Given the description of an element on the screen output the (x, y) to click on. 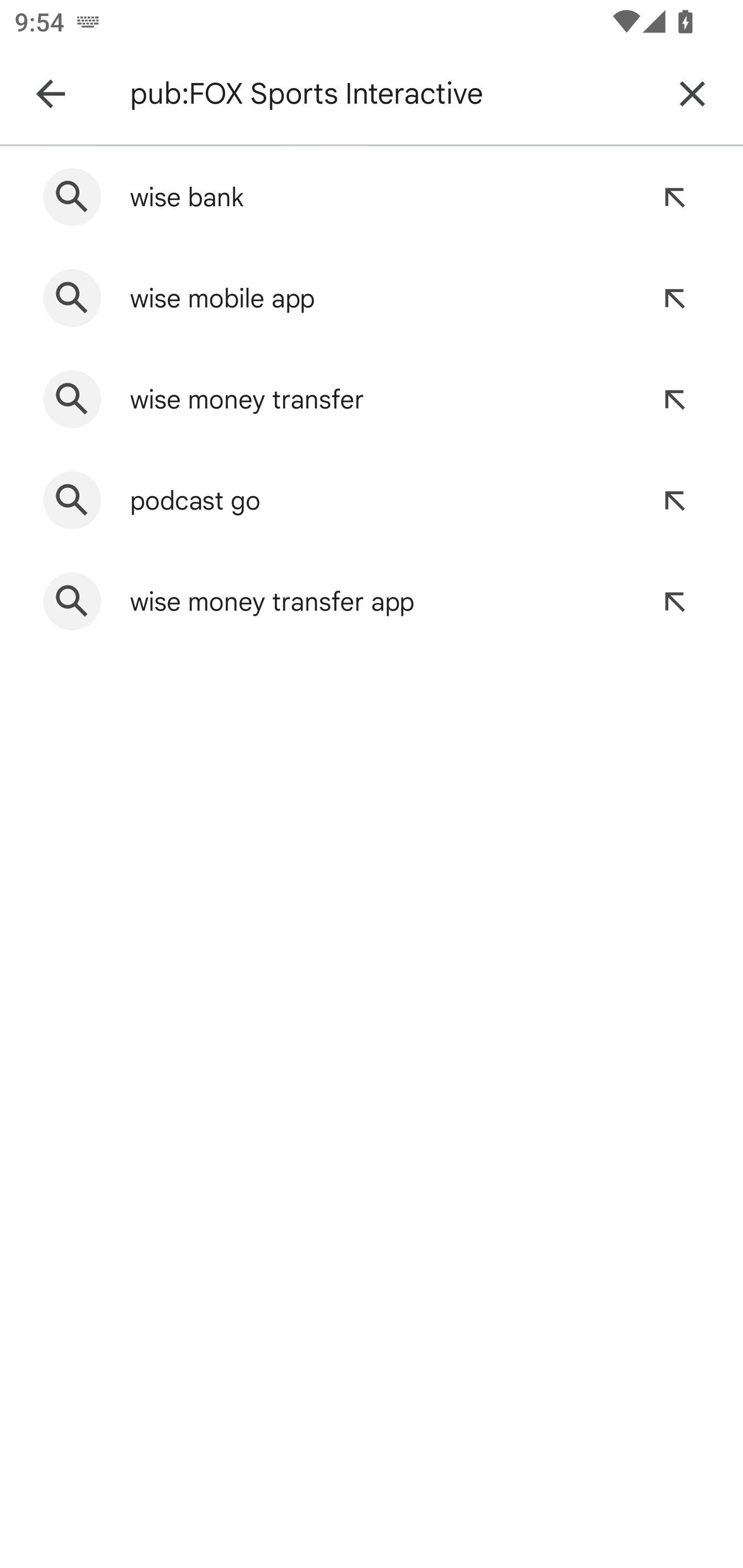
Navigate up (50, 93)
pub:FOX Sports Interactive (389, 93)
Clear (692, 93)
Refine search to "wise bank" (673, 196)
Refine search to "wise mobile app" (673, 297)
Refine search to "wise money transfer" (673, 399)
Refine search to "podcast go" (673, 500)
Refine search to "wise money transfer app" (673, 601)
